Given the description of an element on the screen output the (x, y) to click on. 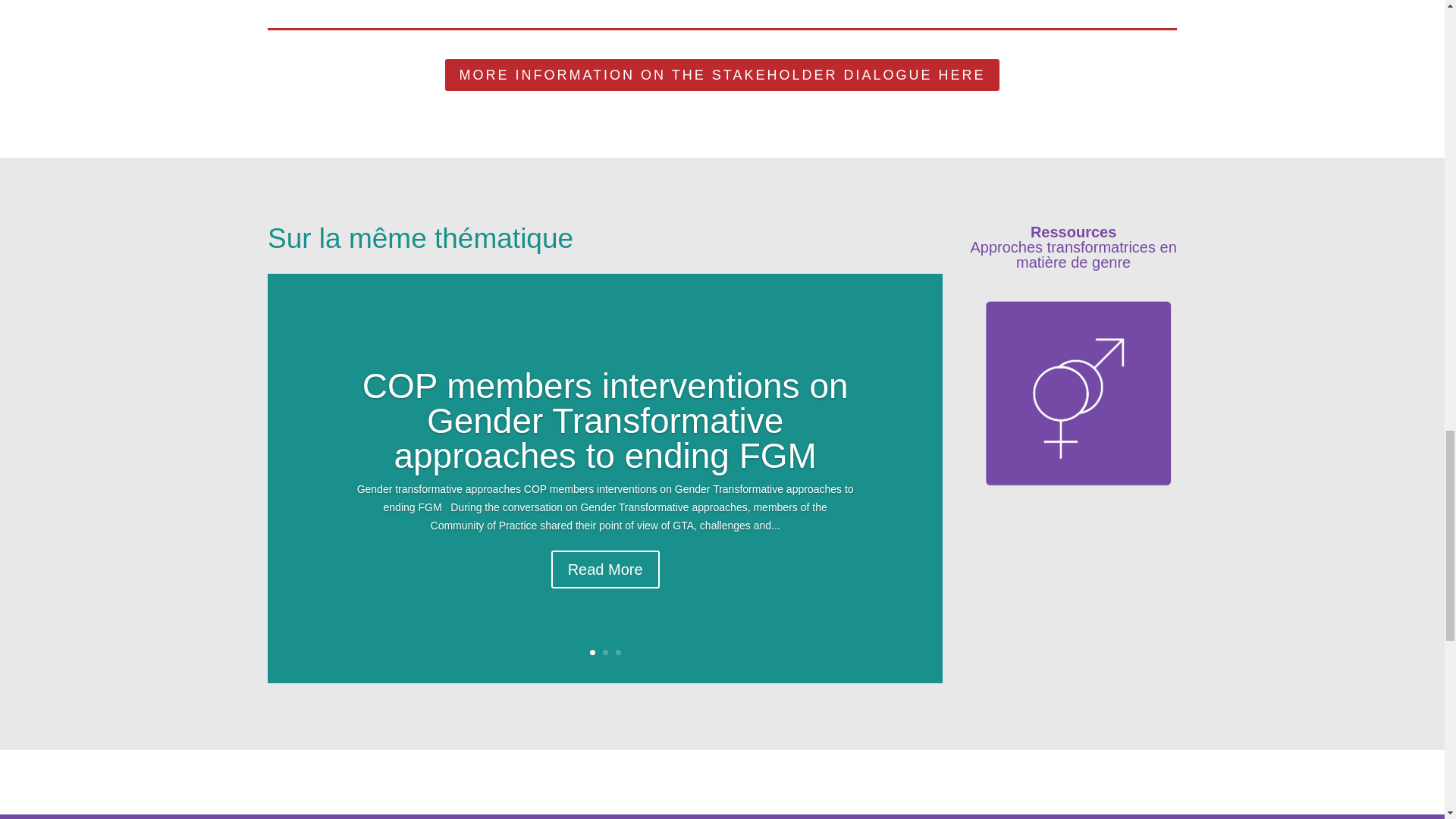
Icon-Cop-07 (1072, 394)
MORE INFORMATION ON THE STAKEHOLDER DIALOGUE HERE (721, 74)
